Given the description of an element on the screen output the (x, y) to click on. 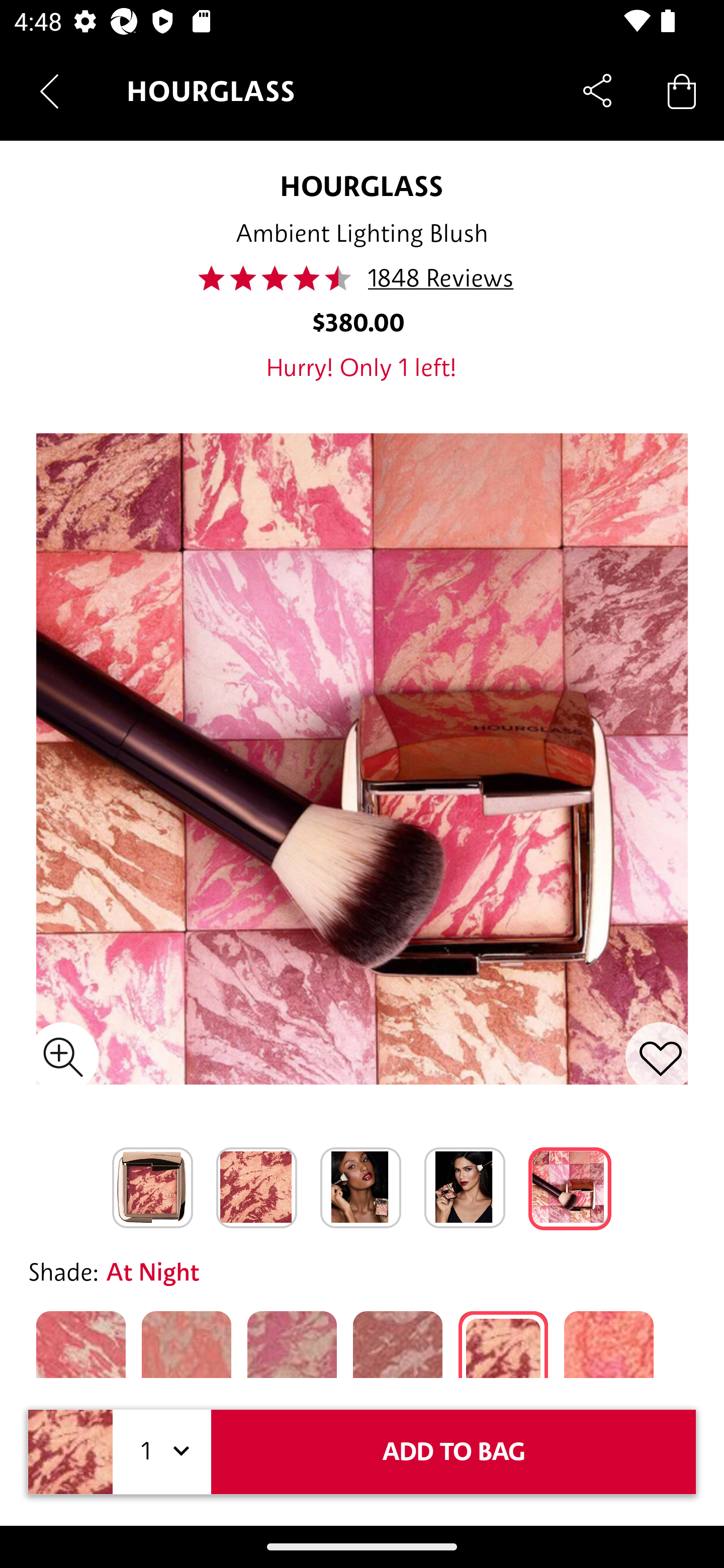
Navigate up (49, 91)
Share (597, 90)
Bag (681, 90)
HOURGLASS (361, 186)
45.0 1848 Reviews (361, 278)
1 (161, 1451)
ADD TO BAG (453, 1451)
